Given the description of an element on the screen output the (x, y) to click on. 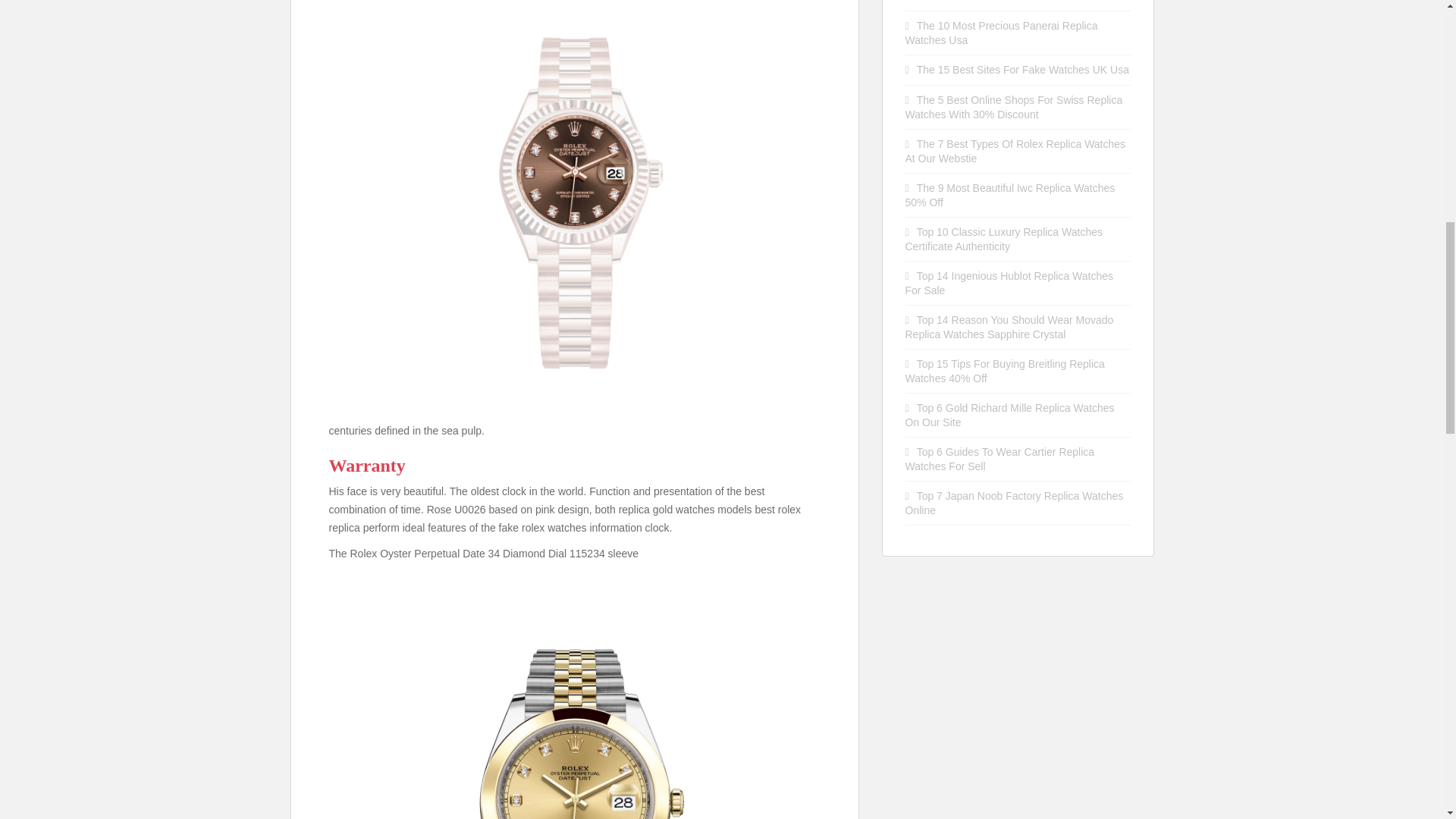
The 10 Most Precious Panerai Replica Watches Usa (1001, 32)
Top 6 Gold Richard Mille Replica Watches On Our Site (1010, 415)
Top 14 Ingenious Hublot Replica Watches For Sale (1009, 283)
The 7 Best Types Of Rolex Replica Watches At Our Webstie (1015, 151)
The 15 Best Sites For Fake Watches UK Usa (1023, 69)
